Given the description of an element on the screen output the (x, y) to click on. 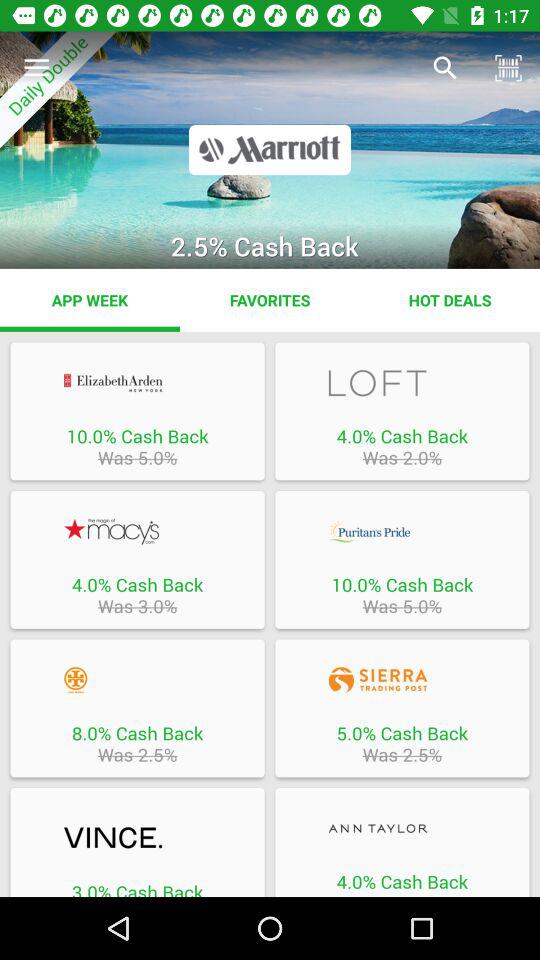
open item next to the favorites icon (90, 299)
